Given the description of an element on the screen output the (x, y) to click on. 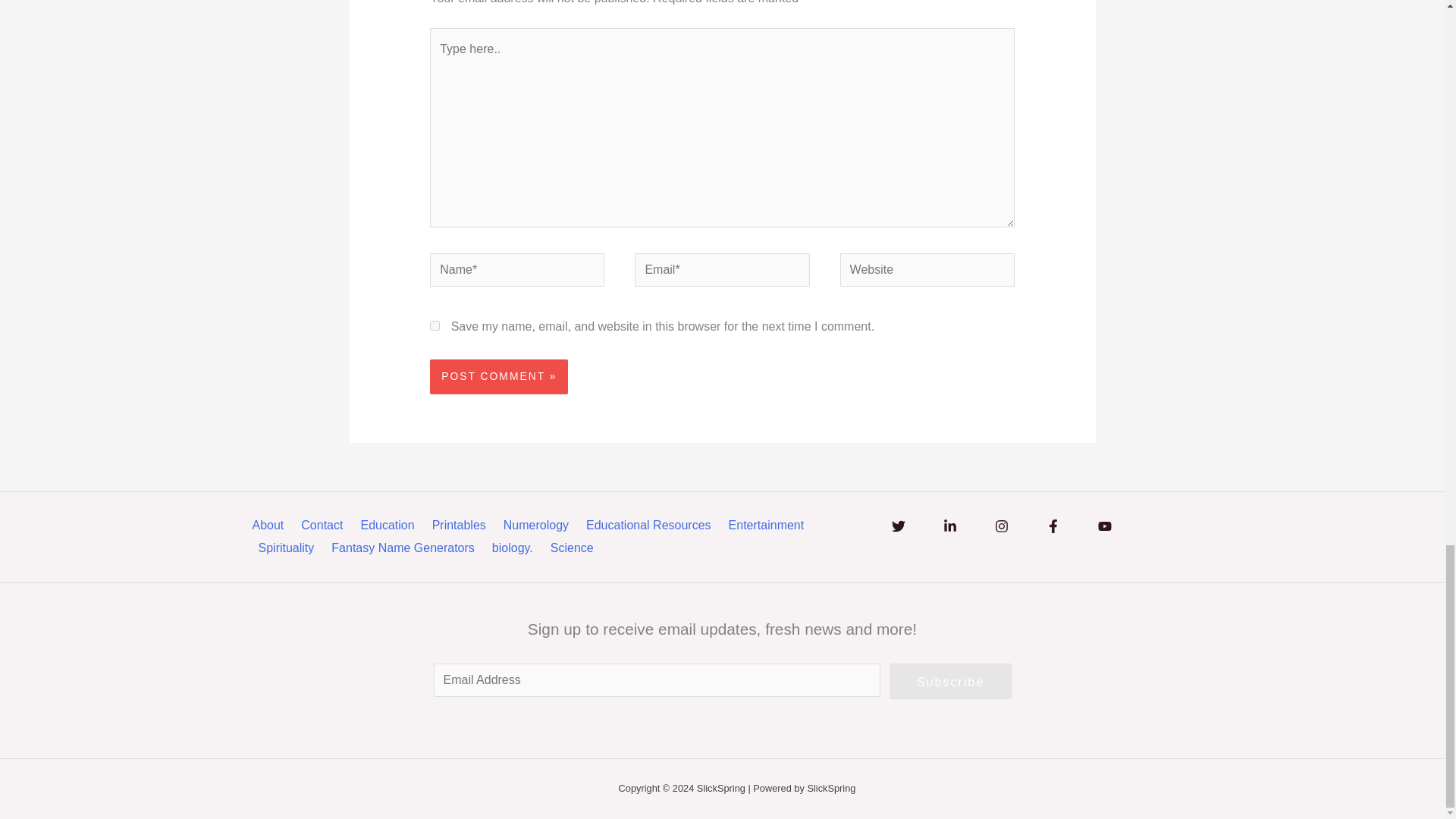
yes (434, 325)
